Given the description of an element on the screen output the (x, y) to click on. 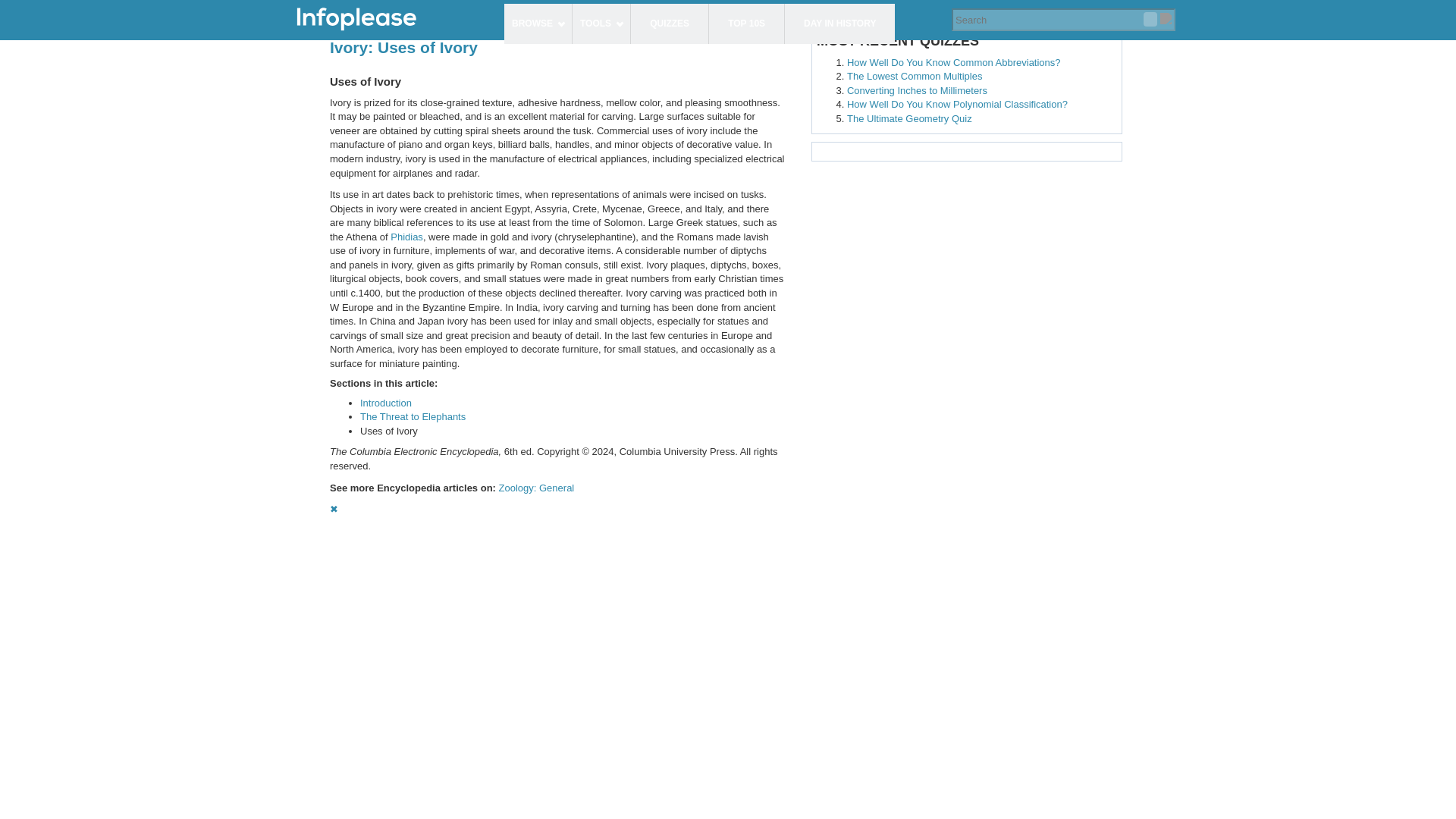
Home (392, 19)
Search (1149, 19)
